Given the description of an element on the screen output the (x, y) to click on. 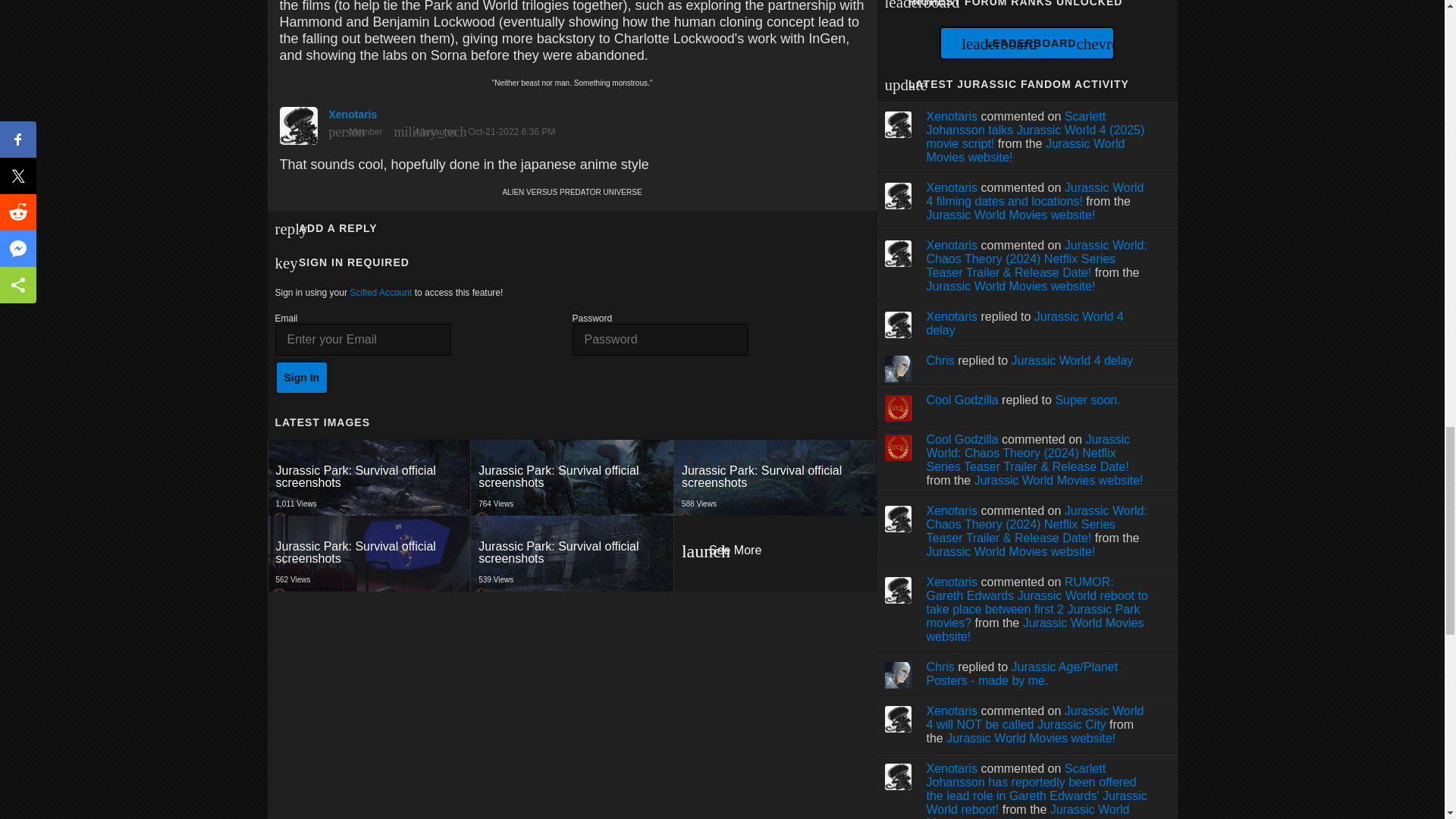
Scified Account (368, 477)
Jurassic Park: Survival official screenshots (774, 477)
Jurassic Park: Survival official screenshots (380, 292)
Sign In (572, 552)
See More (369, 476)
Jurassic Park: Survival official screenshots (302, 377)
Xenotaris (572, 553)
See More (774, 477)
Jurassic Park: Survival official screenshots (572, 477)
